Given the description of an element on the screen output the (x, y) to click on. 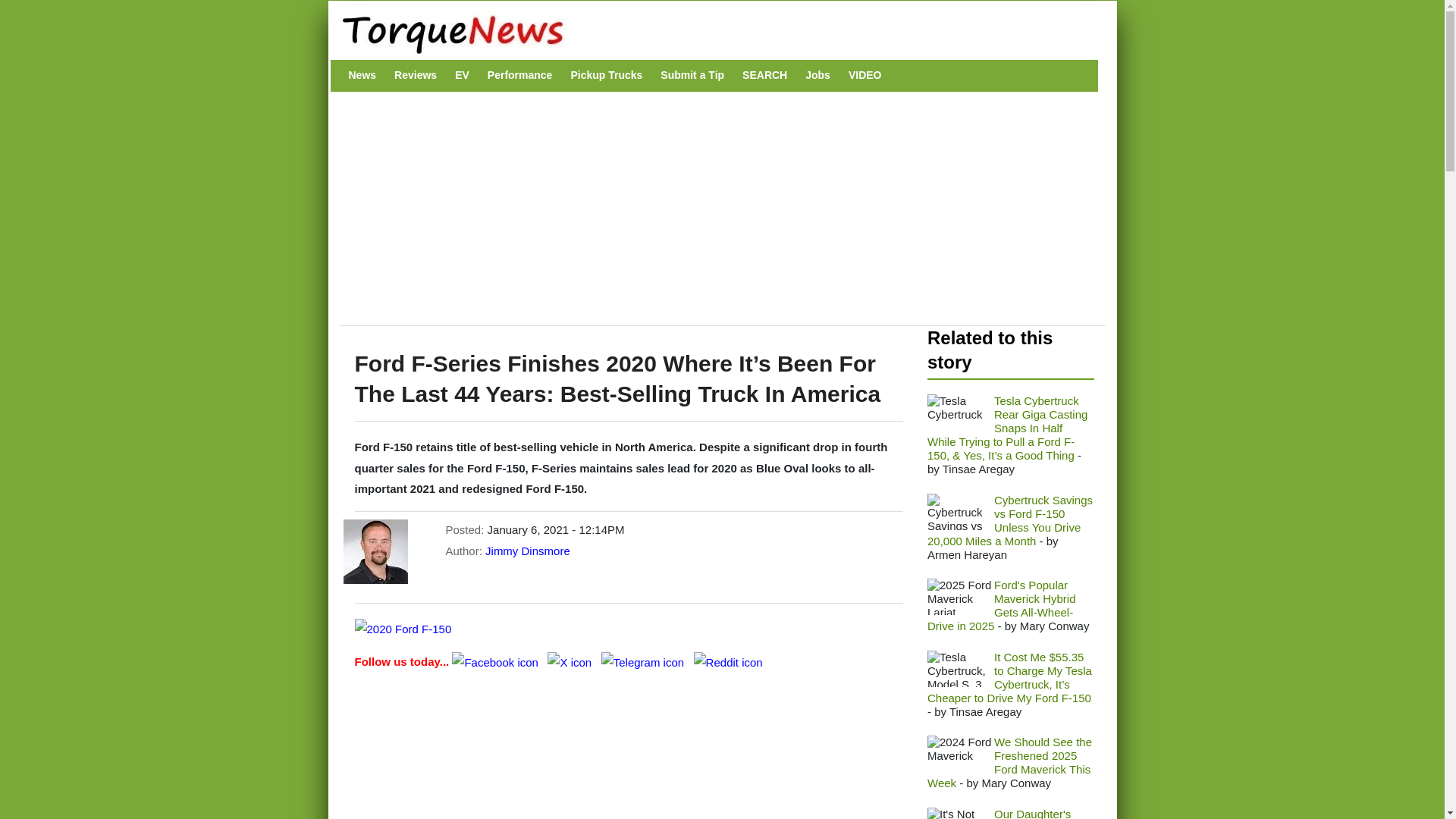
Pickup Trucks (605, 75)
Automotive journalism jobs and careers are TorqueNews.com. (817, 75)
Join us on Reddit! (728, 661)
Home (713, 32)
Join us on Telegram! (644, 661)
Performance (520, 75)
VIDEO (865, 75)
News (362, 75)
